Given the description of an element on the screen output the (x, y) to click on. 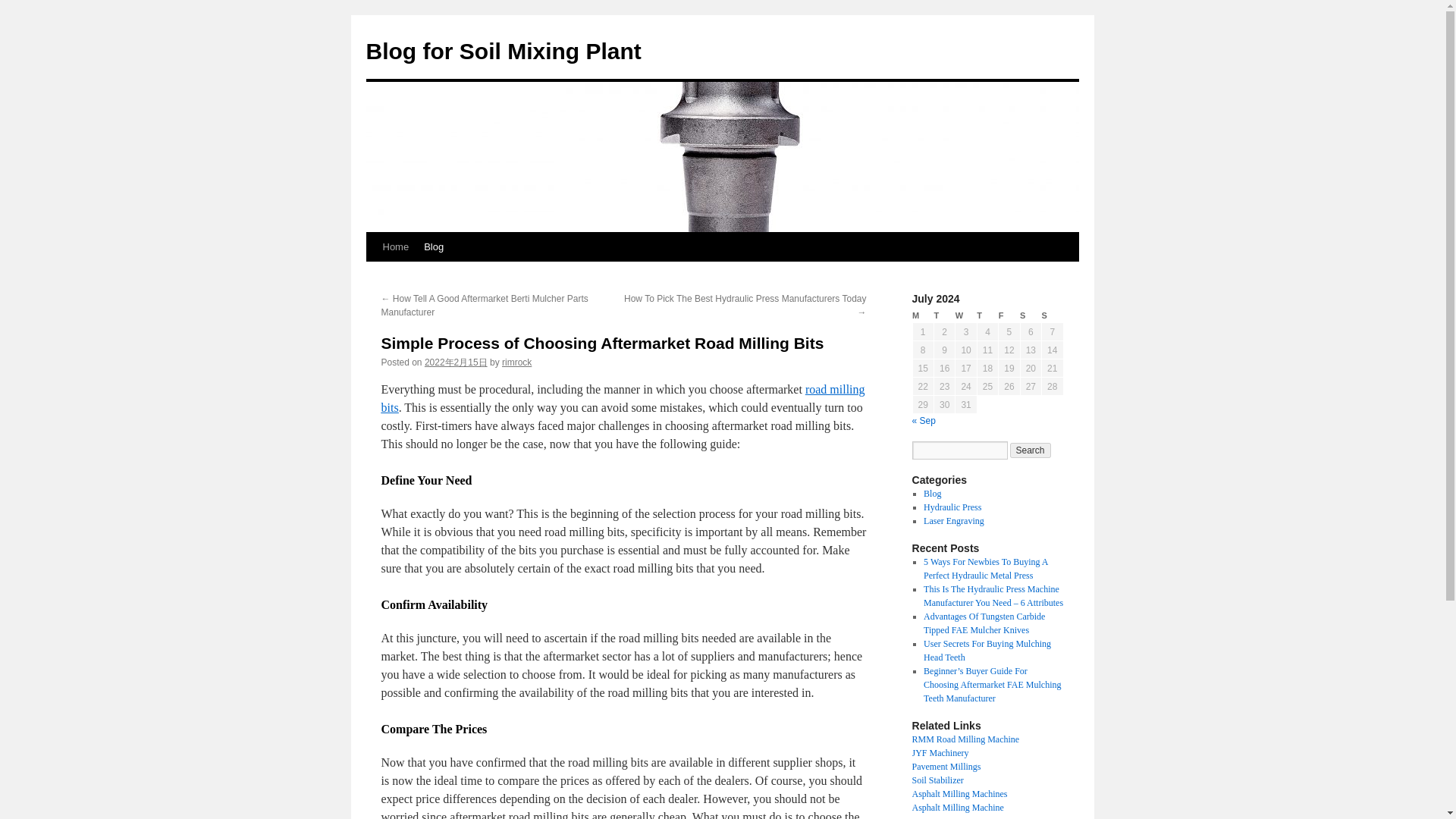
Tuesday (944, 315)
Blog (433, 246)
View all posts by rimrock (516, 362)
Blog (931, 493)
User Secrets For Buying Mulching Head Teeth (987, 650)
Sunday (1052, 315)
Blog for Soil Mixing Plant (502, 50)
Laser Engraving (953, 520)
16:00 (456, 362)
Home (395, 246)
Pavement Millings (945, 766)
road milling bits (622, 398)
Search (1030, 450)
5 Ways For Newbies To Buying A Perfect Hydraulic Metal Press (985, 568)
Hydraulic Press (952, 507)
